Given the description of an element on the screen output the (x, y) to click on. 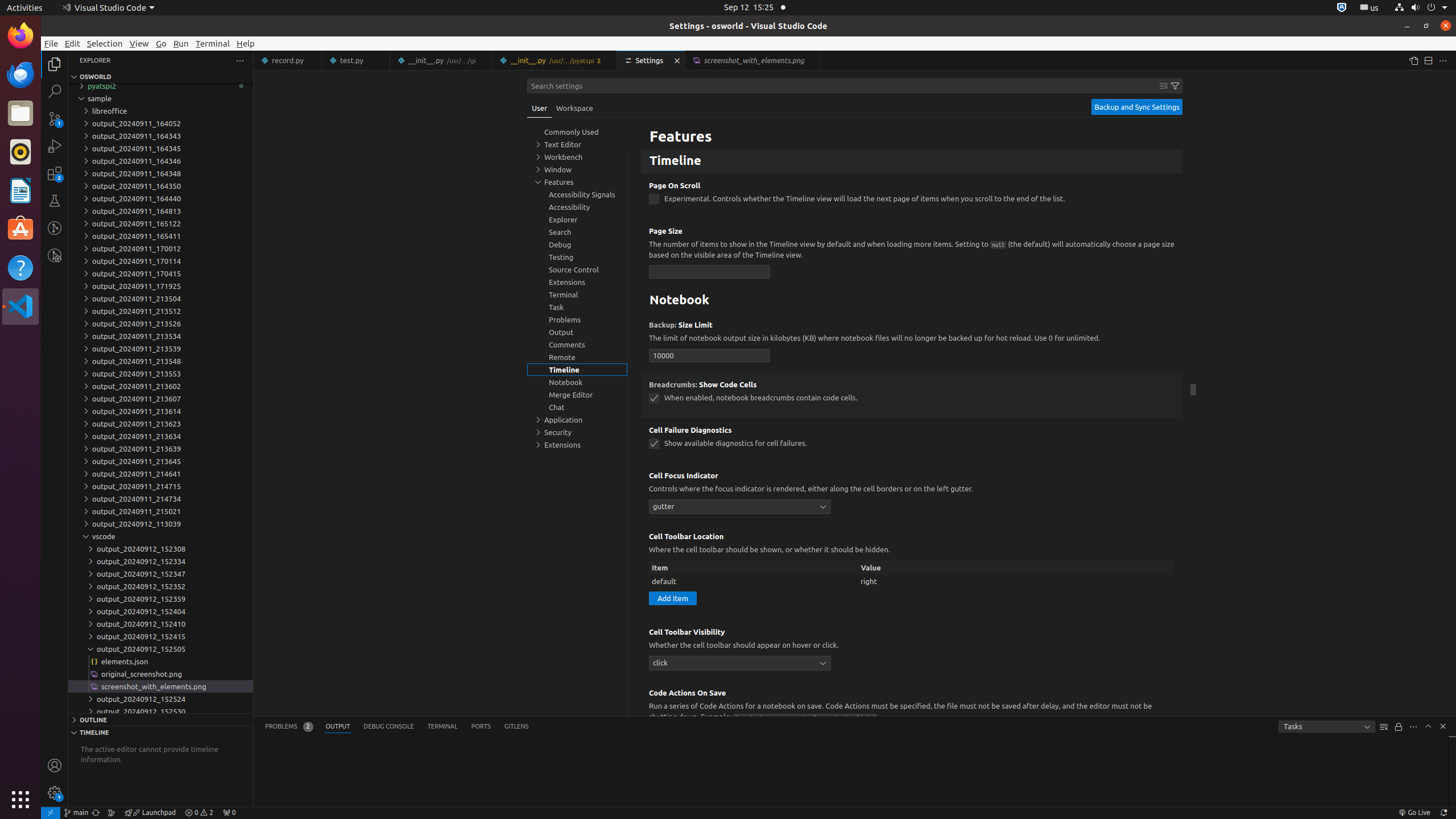
elements.json Element type: tree-item (160, 661)
output_20240911_164440 Element type: tree-item (160, 198)
Close (Ctrl+W) Element type: push-button (812, 60)
Debug, group Element type: tree-item (577, 244)
